Given the description of an element on the screen output the (x, y) to click on. 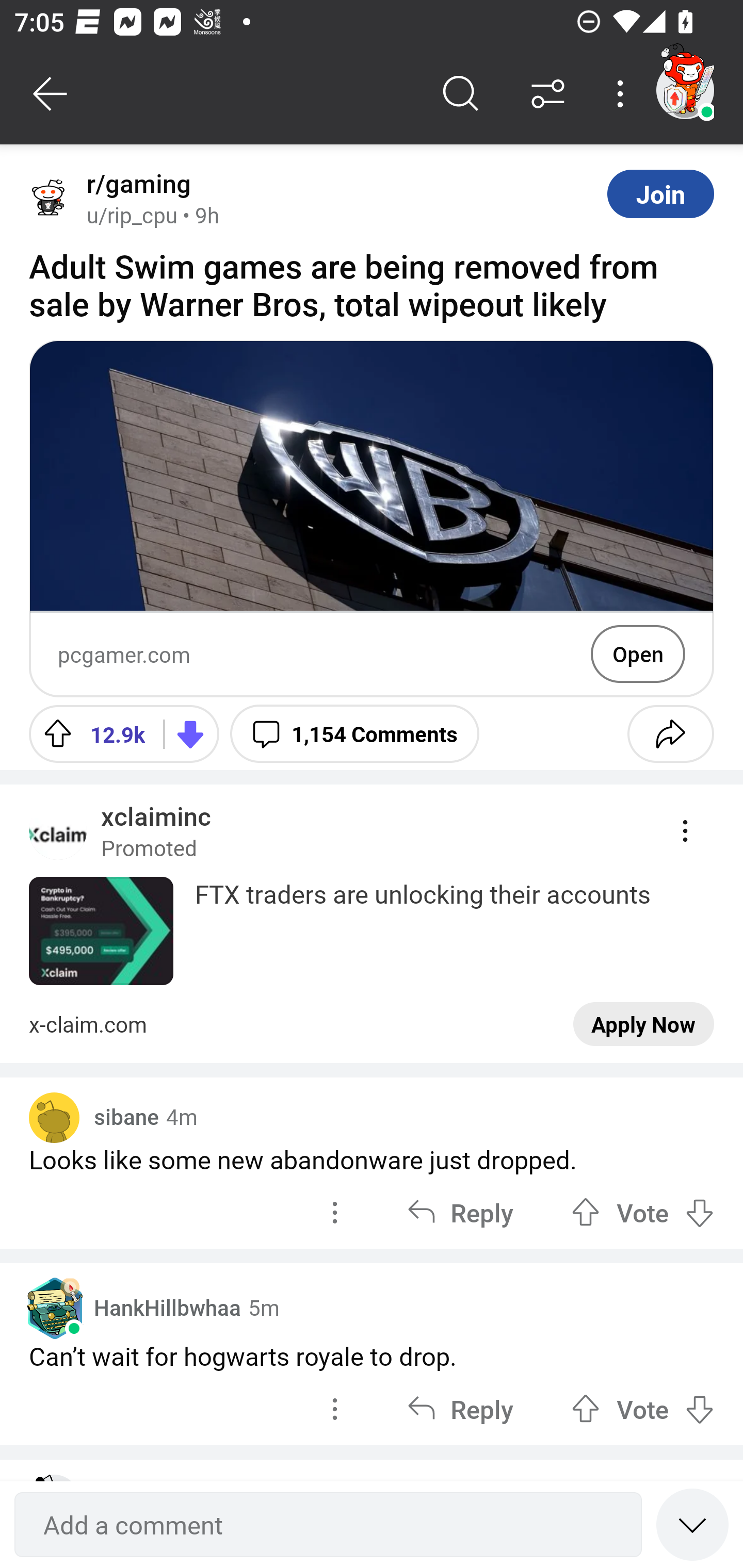
Back (50, 93)
TestAppium002 account (685, 90)
Search comments (460, 93)
Sort comments (547, 93)
More options (623, 93)
r/gaming (135, 183)
Join (660, 193)
Avatar (50, 199)
Preview Image pcgamer.com Open (371, 518)
Open (637, 654)
Upvote 12.9k (88, 733)
1,154 Comments (354, 733)
Share (670, 733)
Avatar (53, 1117)
Looks like some new abandonware just dropped. (371, 1159)
options (334, 1212)
Reply (460, 1212)
Upvote Vote 1008 votes Downvote (642, 1212)
Can’t wait for hogwarts royale to drop. (371, 1356)
options (334, 1409)
Reply (460, 1409)
Upvote Vote 15 votes Downvote (642, 1409)
Speed read (692, 1524)
Add a comment (327, 1524)
